Given the description of an element on the screen output the (x, y) to click on. 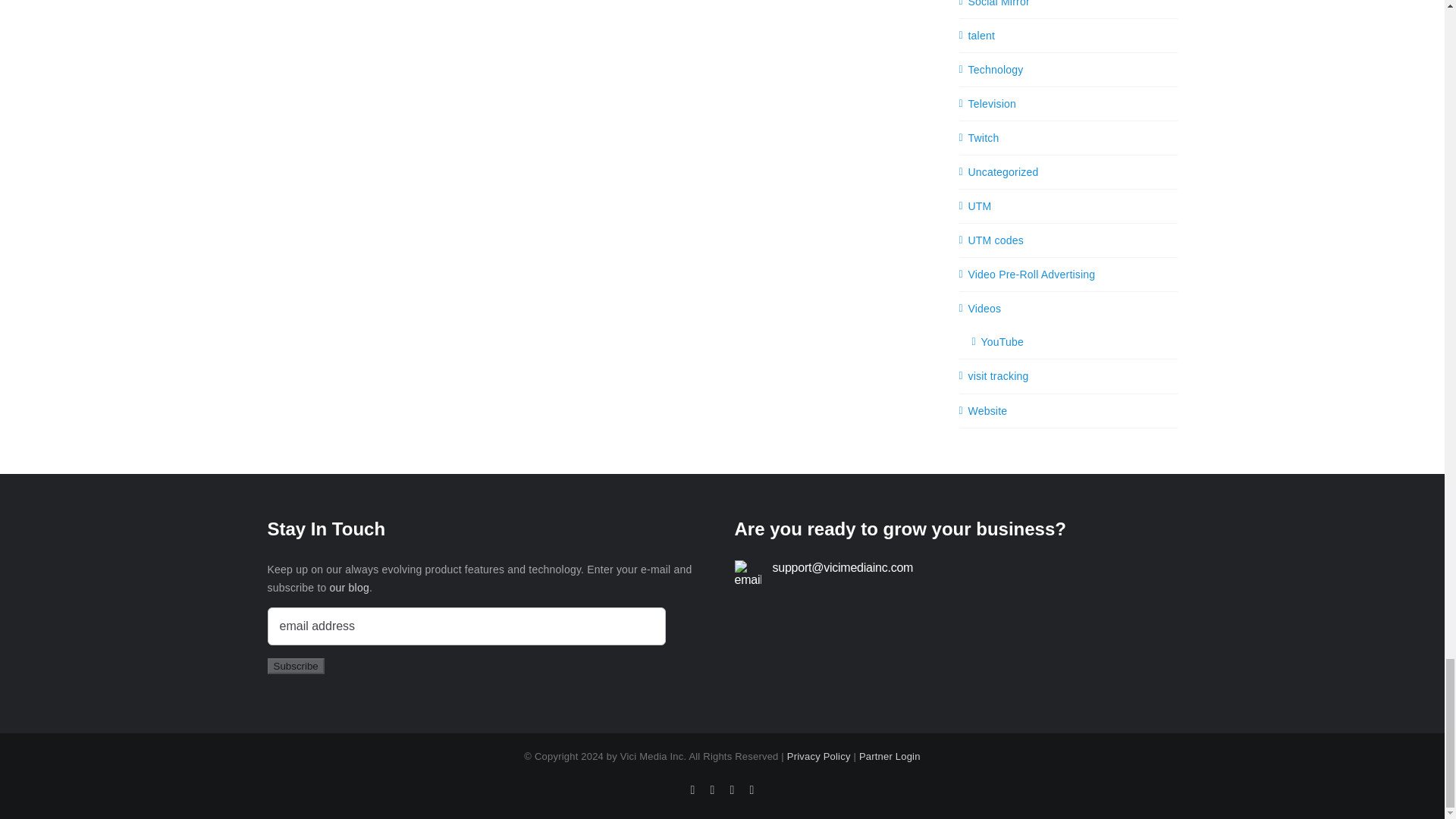
Subscribe (294, 666)
